Given the description of an element on the screen output the (x, y) to click on. 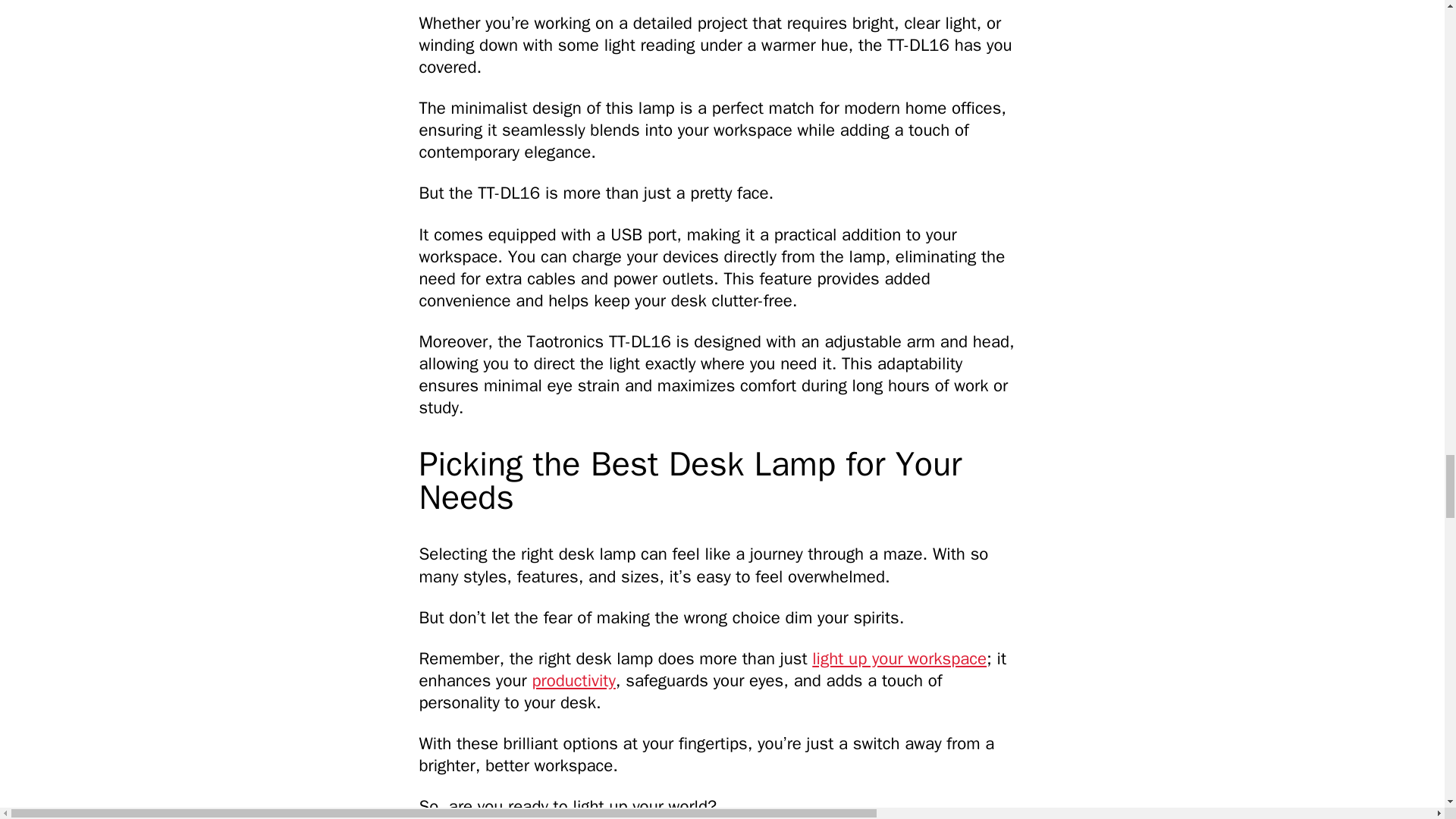
productivity (572, 680)
light up your workspace (899, 658)
